Given the description of an element on the screen output the (x, y) to click on. 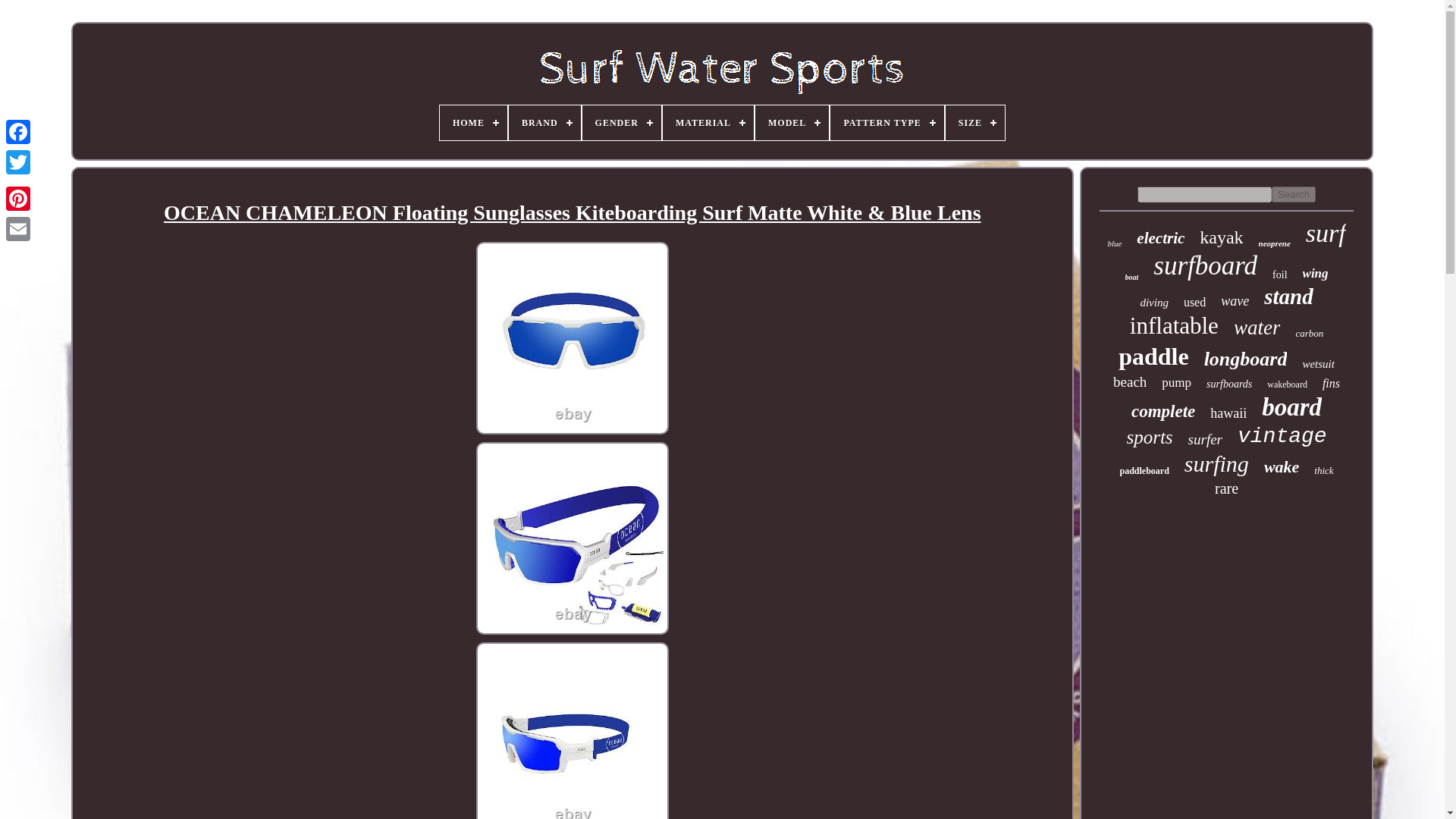
Search (1293, 194)
HOME (472, 122)
MATERIAL (708, 122)
GENDER (621, 122)
BRAND (544, 122)
Twitter (17, 162)
Email (17, 228)
